Given the description of an element on the screen output the (x, y) to click on. 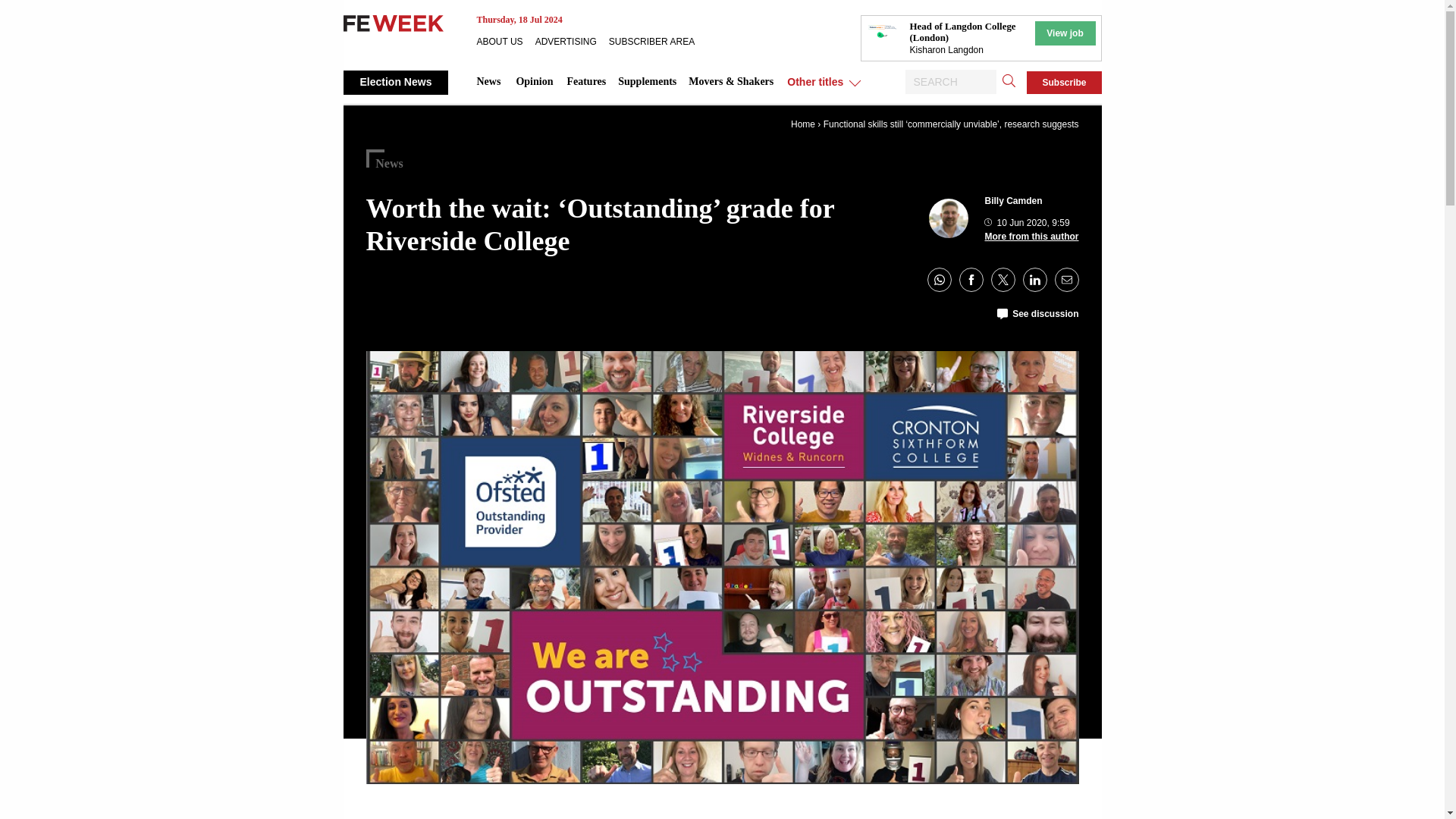
ADVERTISING (571, 41)
ABOUT US (505, 41)
Election News (395, 82)
Posts by Billy Camden (1013, 200)
View job (1063, 33)
News (488, 81)
SUBSCRIBER AREA (657, 41)
Home (802, 123)
